Given the description of an element on the screen output the (x, y) to click on. 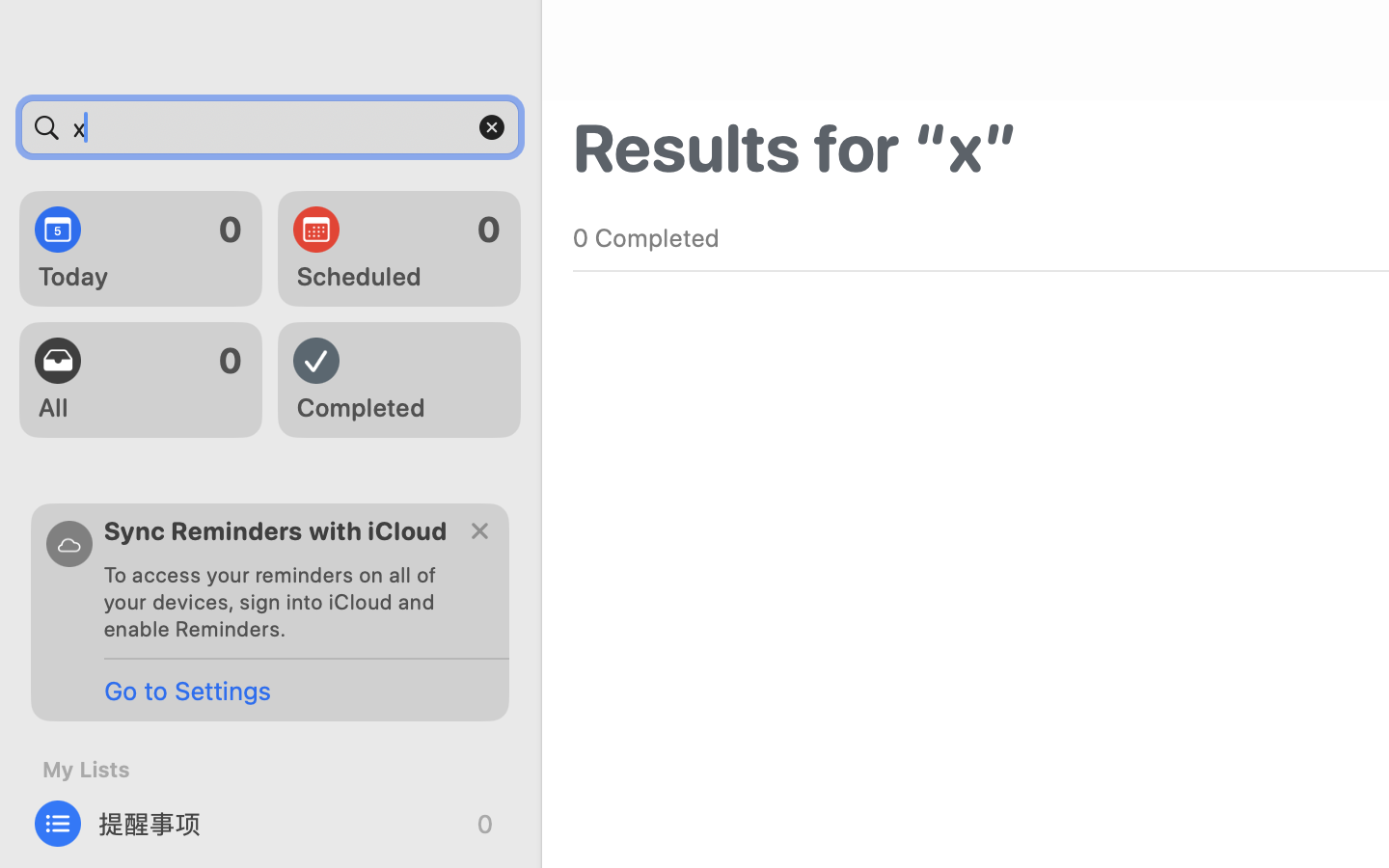
To access your reminders on all of your devices, sign into iCloud and enable Reminders. Element type: AXStaticText (278, 601)
0 Completed Element type: AXStaticText (646, 236)
提醒事项 Element type: AXTextField (270, 823)
x Element type: AXTextField (269, 127)
Sync Reminders with iCloud Element type: AXStaticText (275, 530)
